Given the description of an element on the screen output the (x, y) to click on. 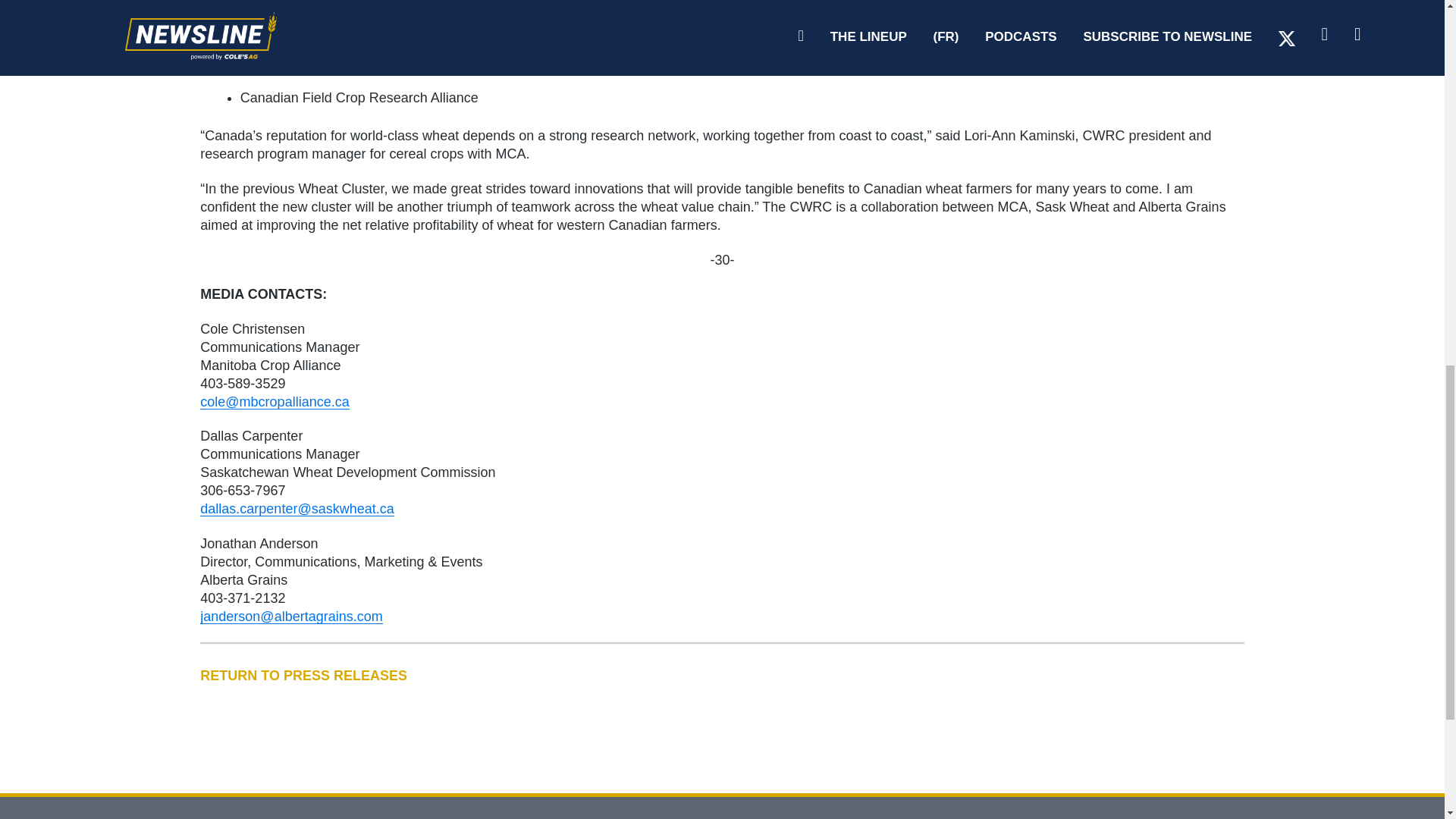
RETURN TO PRESS RELEASES (721, 675)
